Given the description of an element on the screen output the (x, y) to click on. 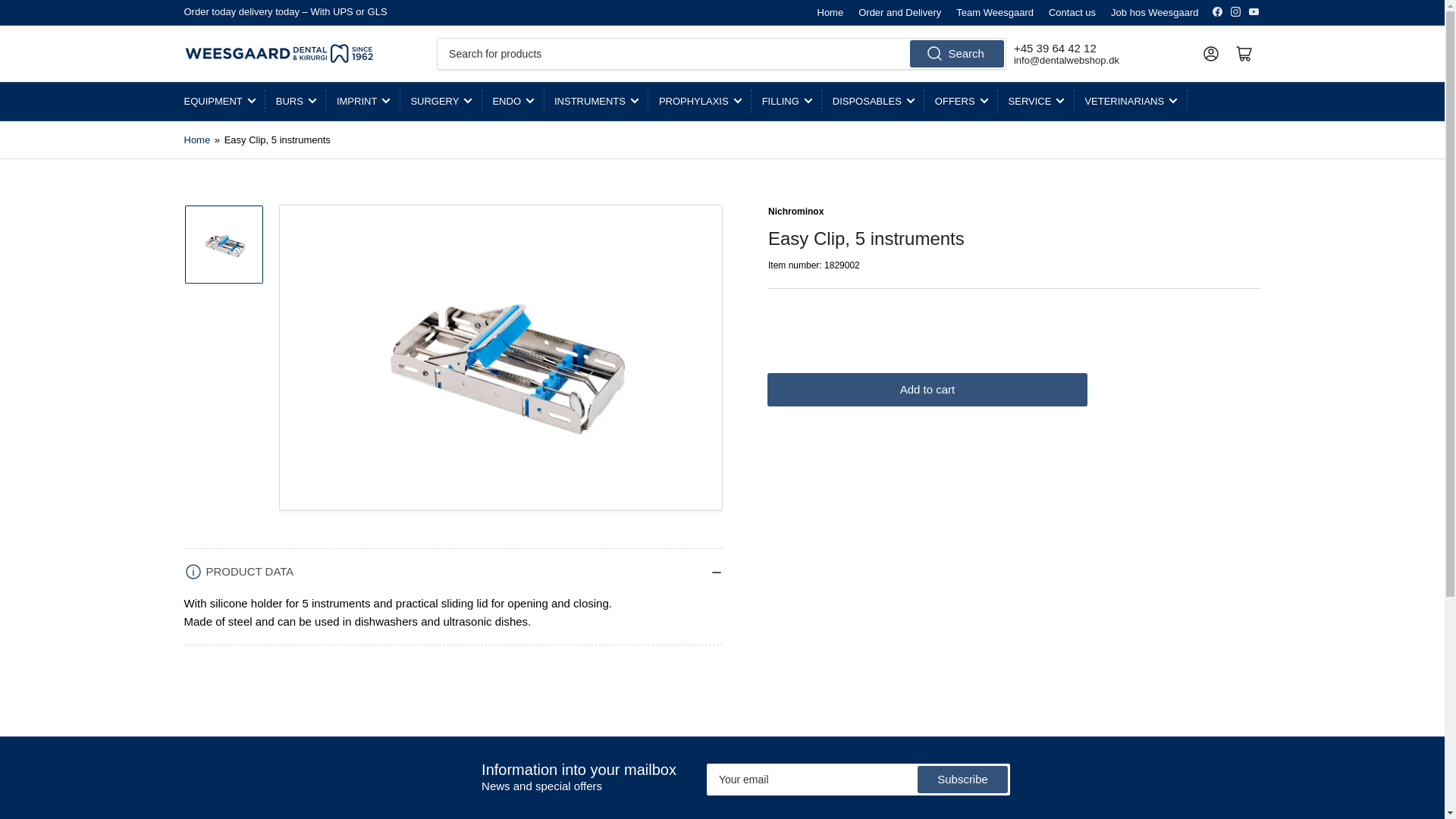
Contact us (1072, 12)
YouTube (1253, 11)
Facebook (1216, 11)
Job hos Weesgaard (1154, 12)
Home (830, 12)
Send us an email (1066, 60)
Team Weesgaard (994, 12)
Open mini cart (1243, 52)
Log in (1210, 52)
Search (957, 53)
